Given the description of an element on the screen output the (x, y) to click on. 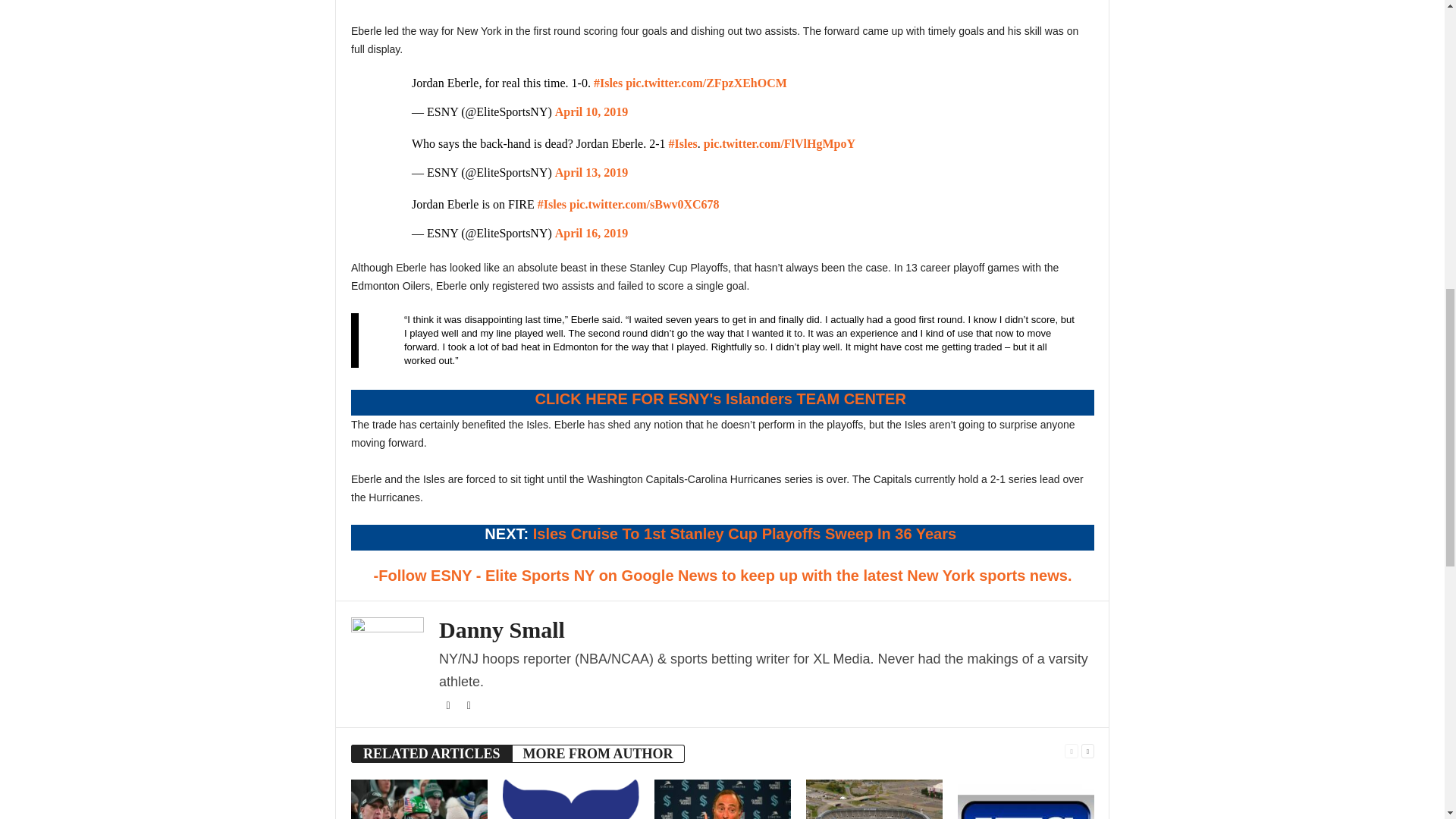
Linkedin (468, 706)
Twitter (449, 706)
ESNY celebrates Festivus, New York Sports Edition (418, 799)
